Given the description of an element on the screen output the (x, y) to click on. 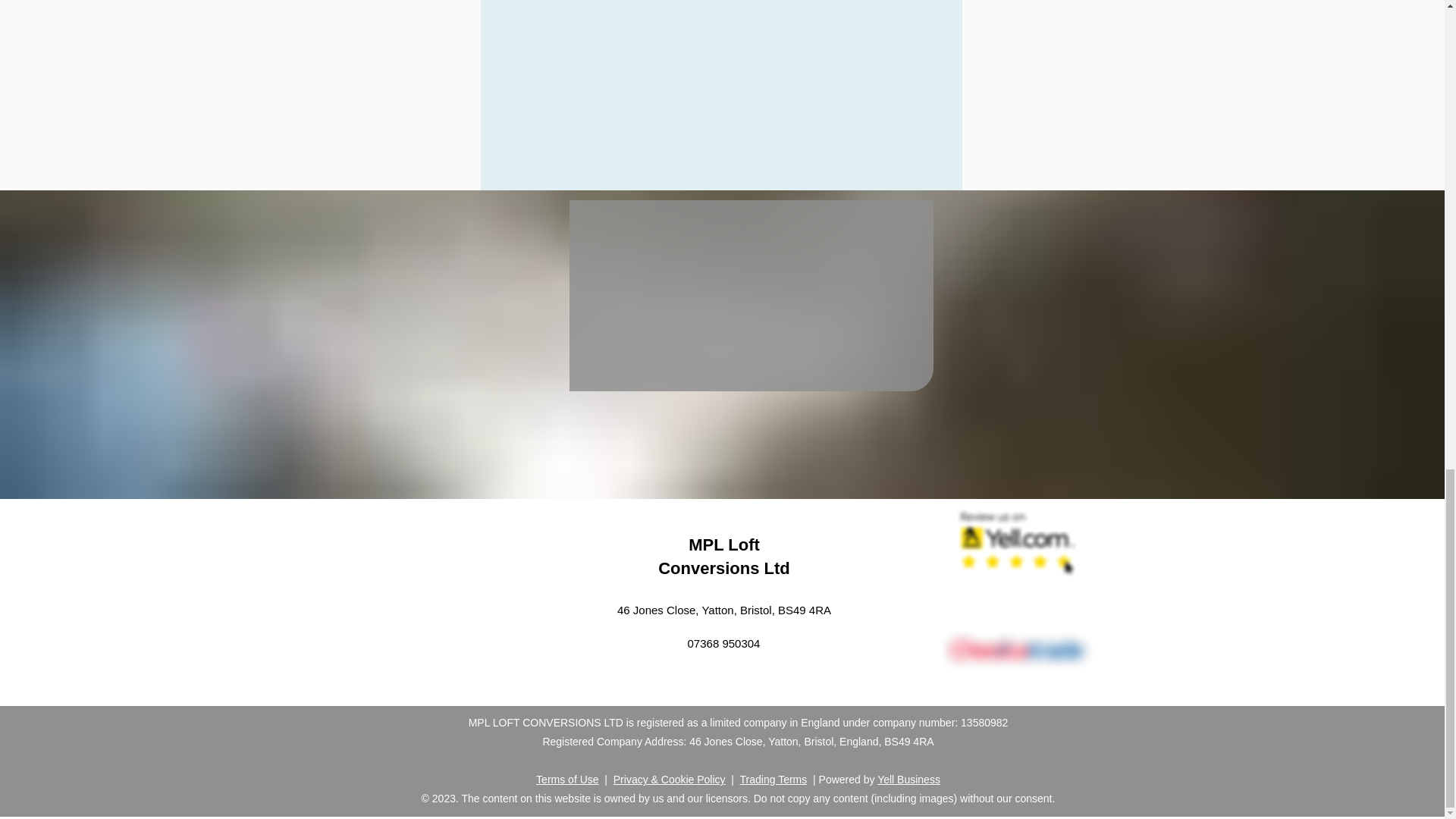
Trading Terms (773, 779)
Yell Business (908, 779)
Terms of Use (566, 779)
MPL Loft Conversions Ltd (724, 556)
